Given the description of an element on the screen output the (x, y) to click on. 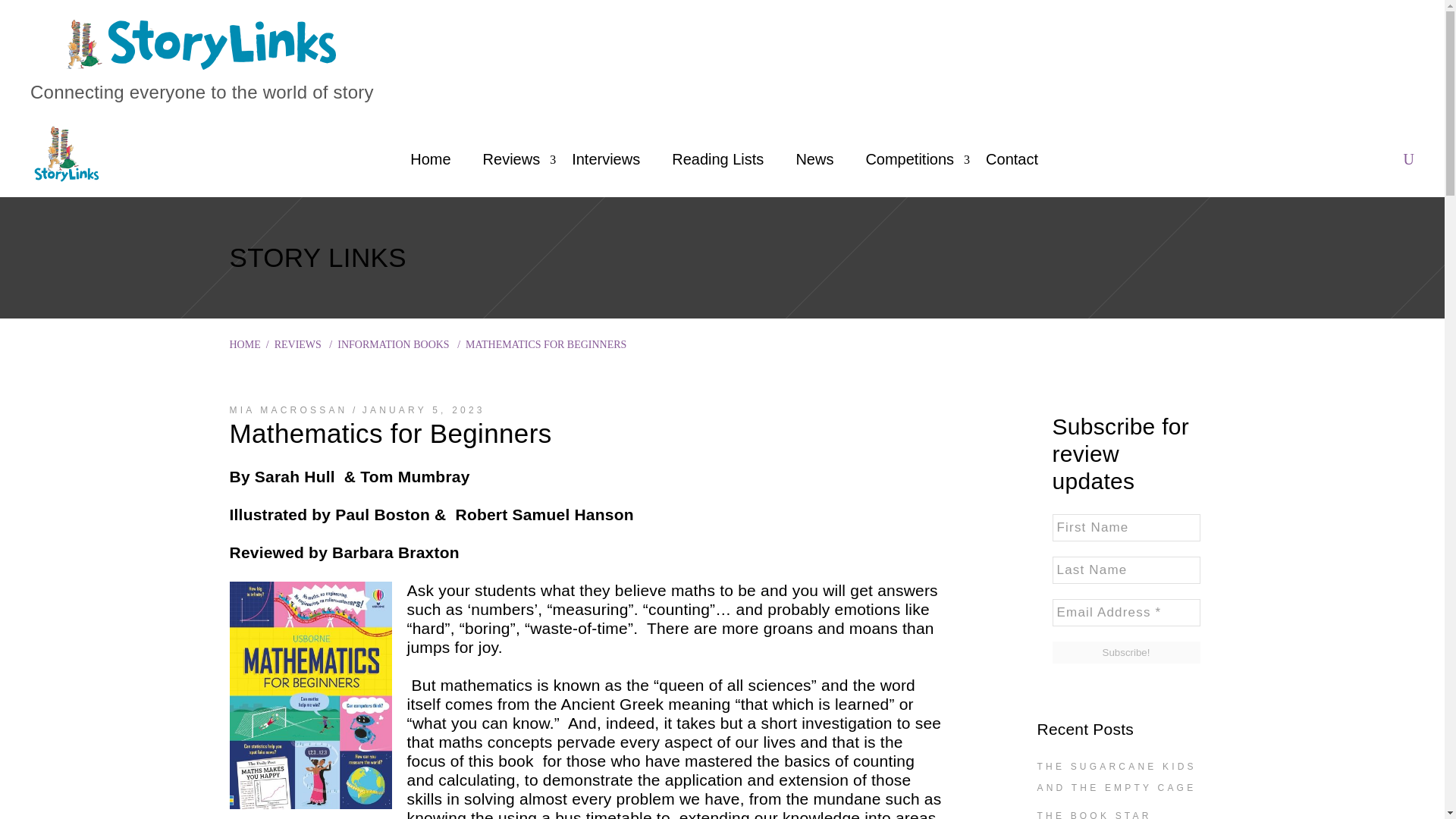
Reviews (511, 159)
First name (1125, 527)
Subscribe! (1125, 652)
Contact (1011, 159)
Email Address (1125, 612)
Last name (1125, 569)
Interviews (606, 159)
Home (429, 159)
Reading Lists (717, 159)
Competitions (908, 159)
